Given the description of an element on the screen output the (x, y) to click on. 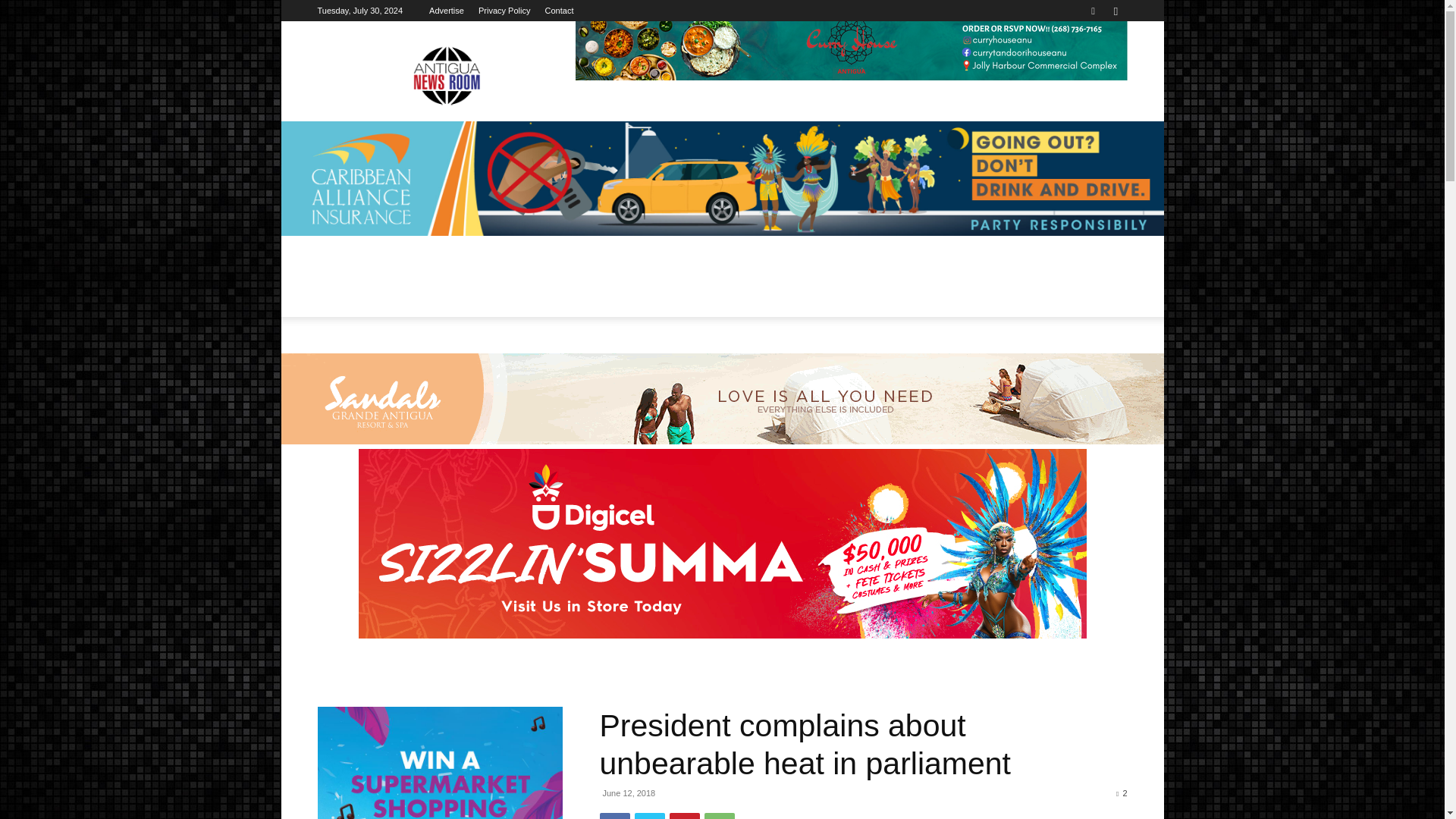
Instagram (1114, 10)
Contact (558, 10)
Search (1085, 64)
Privacy Policy (504, 10)
Pinterest (683, 816)
Twitter (648, 816)
Facebook (613, 816)
LOCAL NEWS (416, 286)
WhatsApp (718, 816)
Advertise (446, 10)
